Given the description of an element on the screen output the (x, y) to click on. 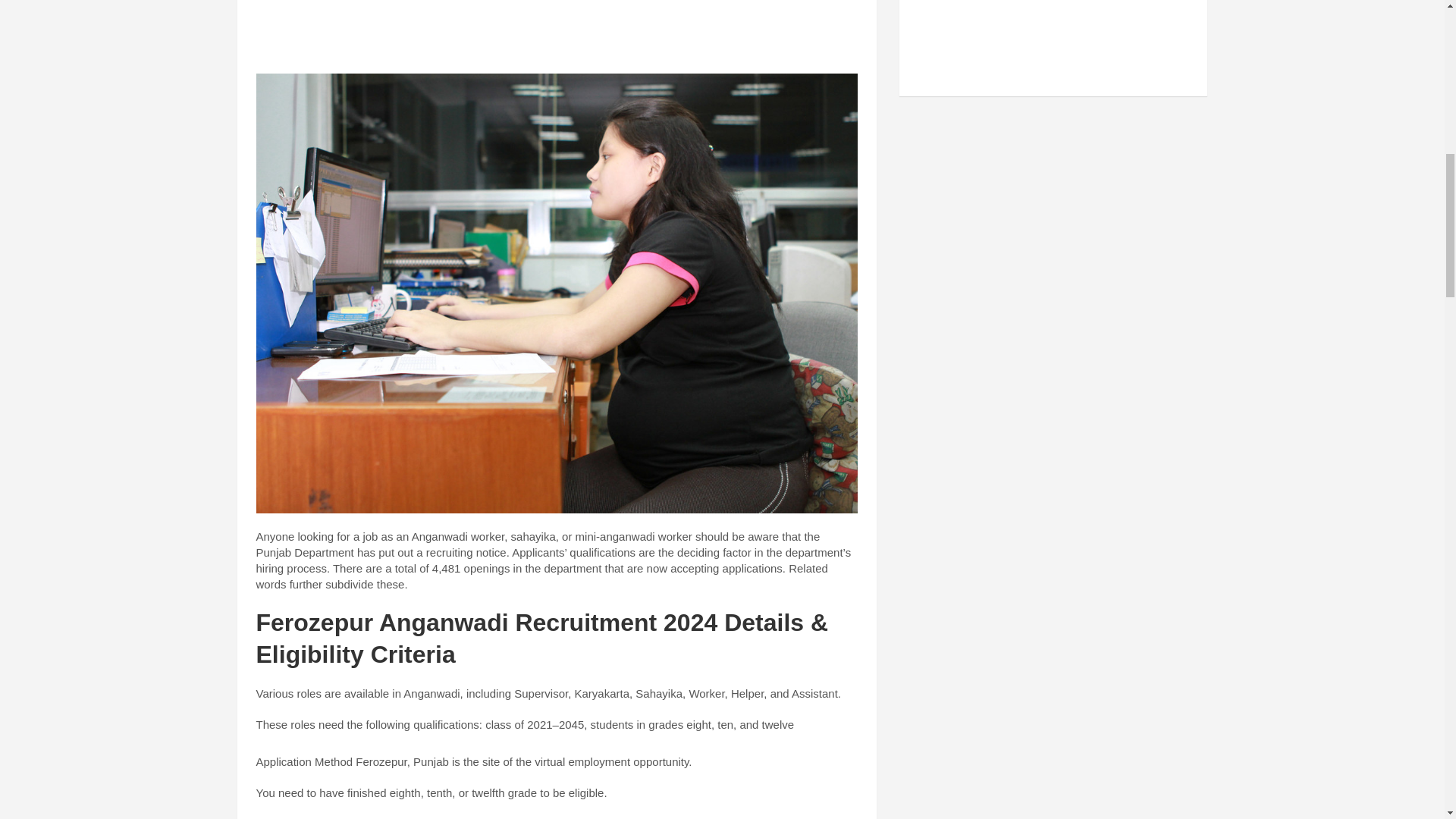
Advertisement (556, 33)
